Given the description of an element on the screen output the (x, y) to click on. 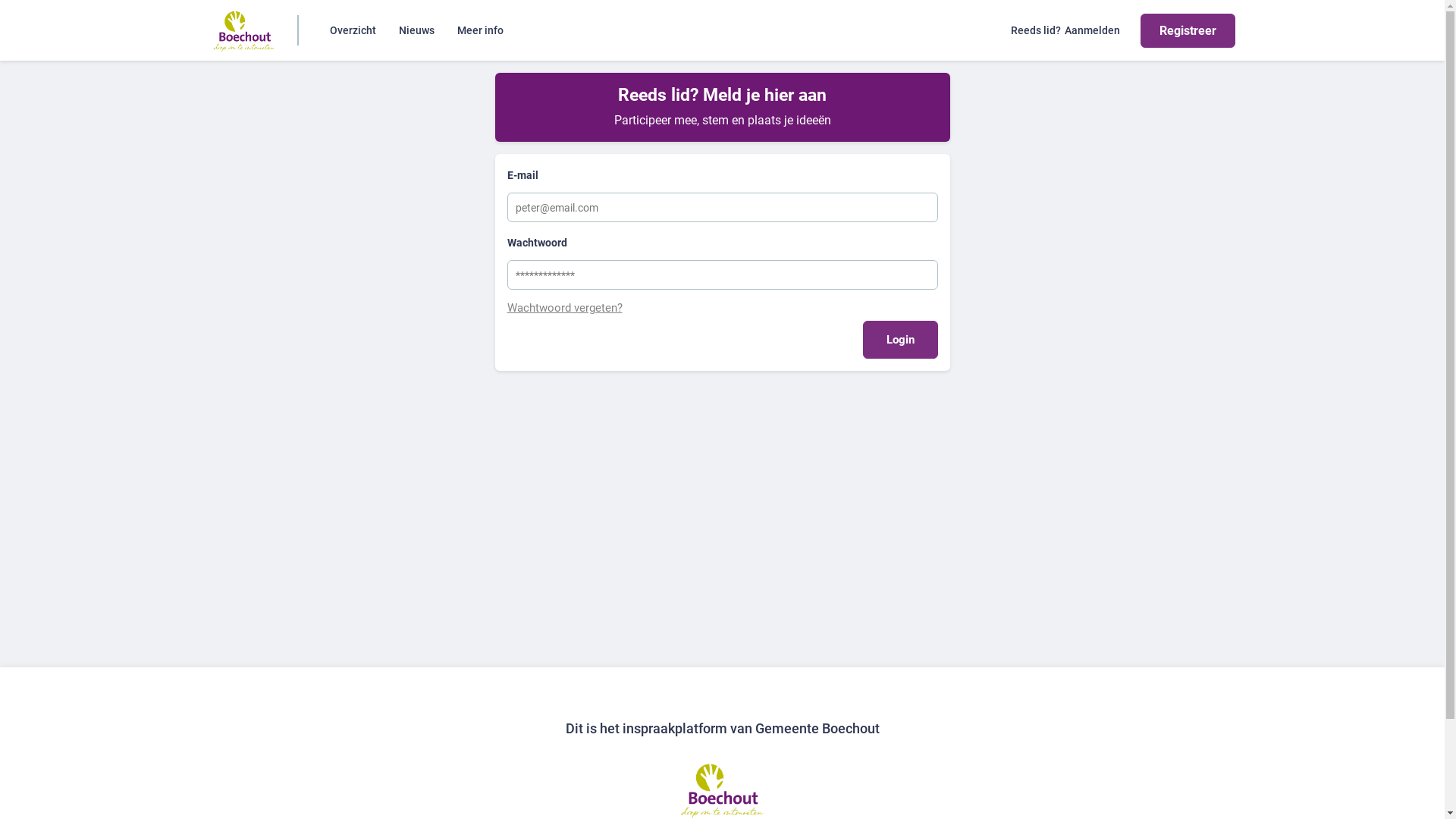
Nieuws Element type: text (416, 30)
Registreer Element type: text (1187, 30)
Wachtwoord vergeten? Element type: text (721, 307)
Meer info Element type: text (479, 30)
Login Element type: text (900, 338)
Reeds lid?
Aanmelden Element type: text (1065, 30)
Overzicht Element type: text (352, 30)
